Given the description of an element on the screen output the (x, y) to click on. 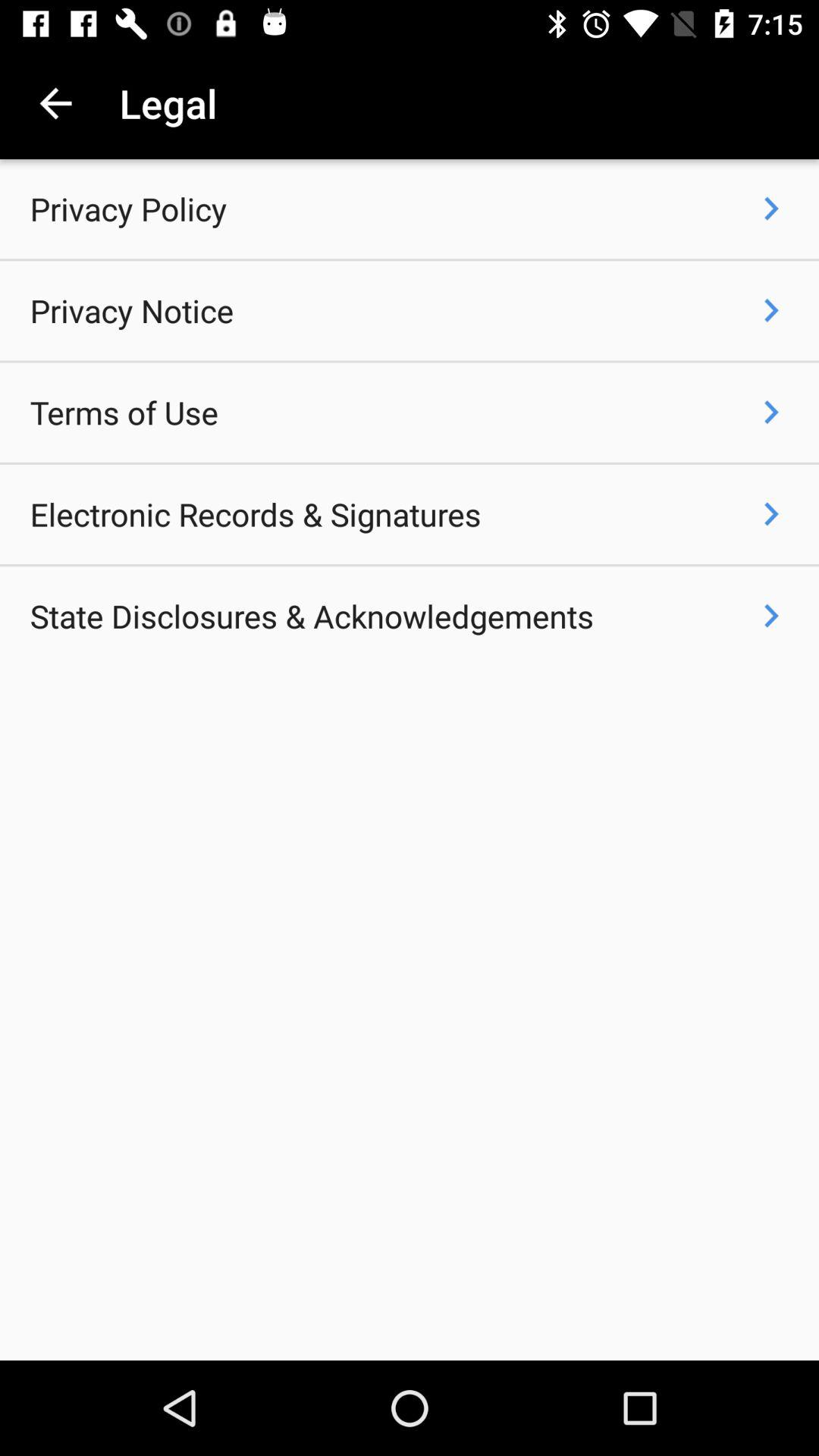
turn on item below the terms of use icon (255, 514)
